Given the description of an element on the screen output the (x, y) to click on. 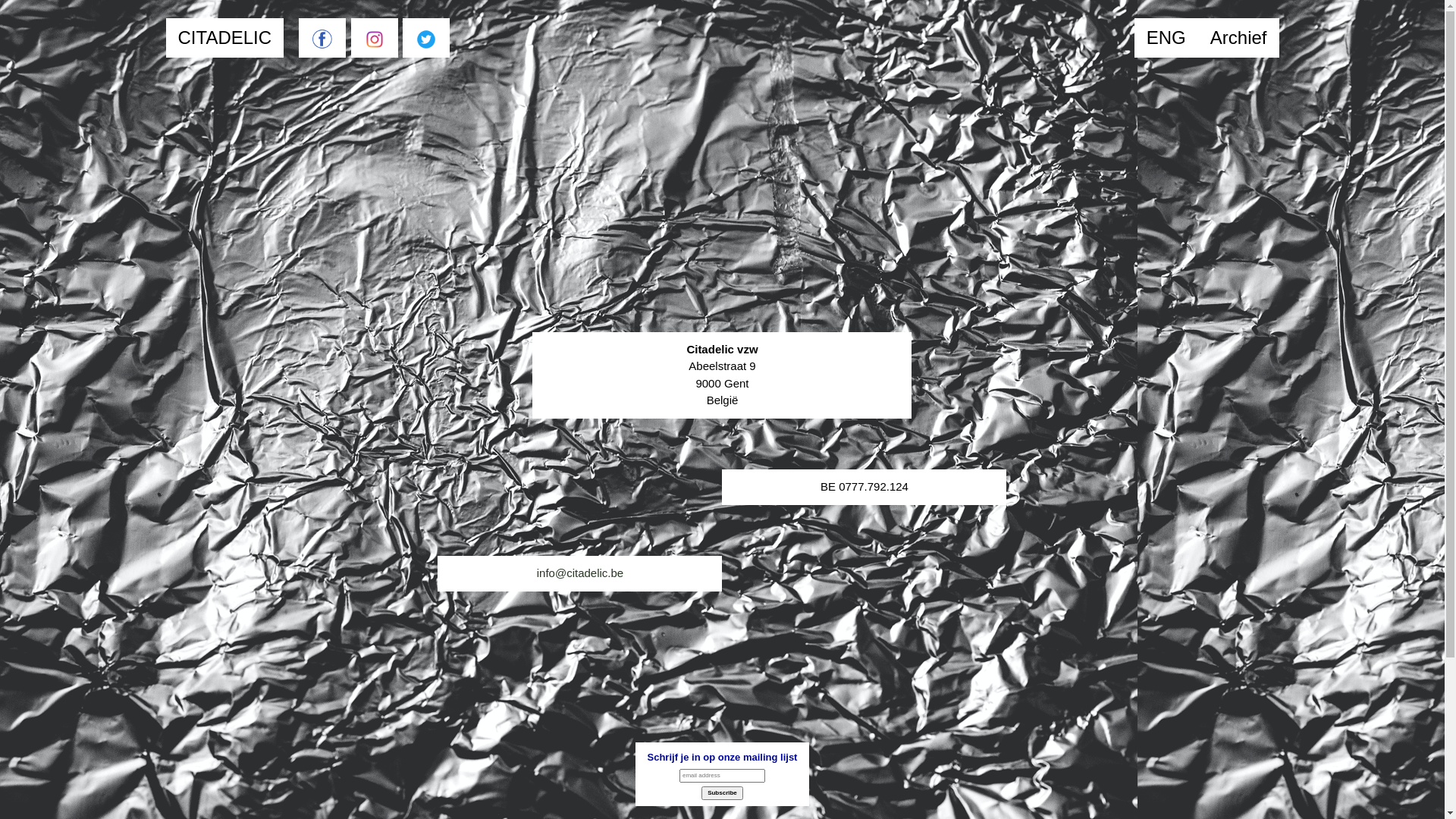
Archief Element type: text (1238, 37)
ENG Element type: text (1166, 37)
CITADELIC Element type: text (224, 37)
Subscribe Element type: text (722, 793)
info@citadelic.be Element type: text (579, 572)
